Given the description of an element on the screen output the (x, y) to click on. 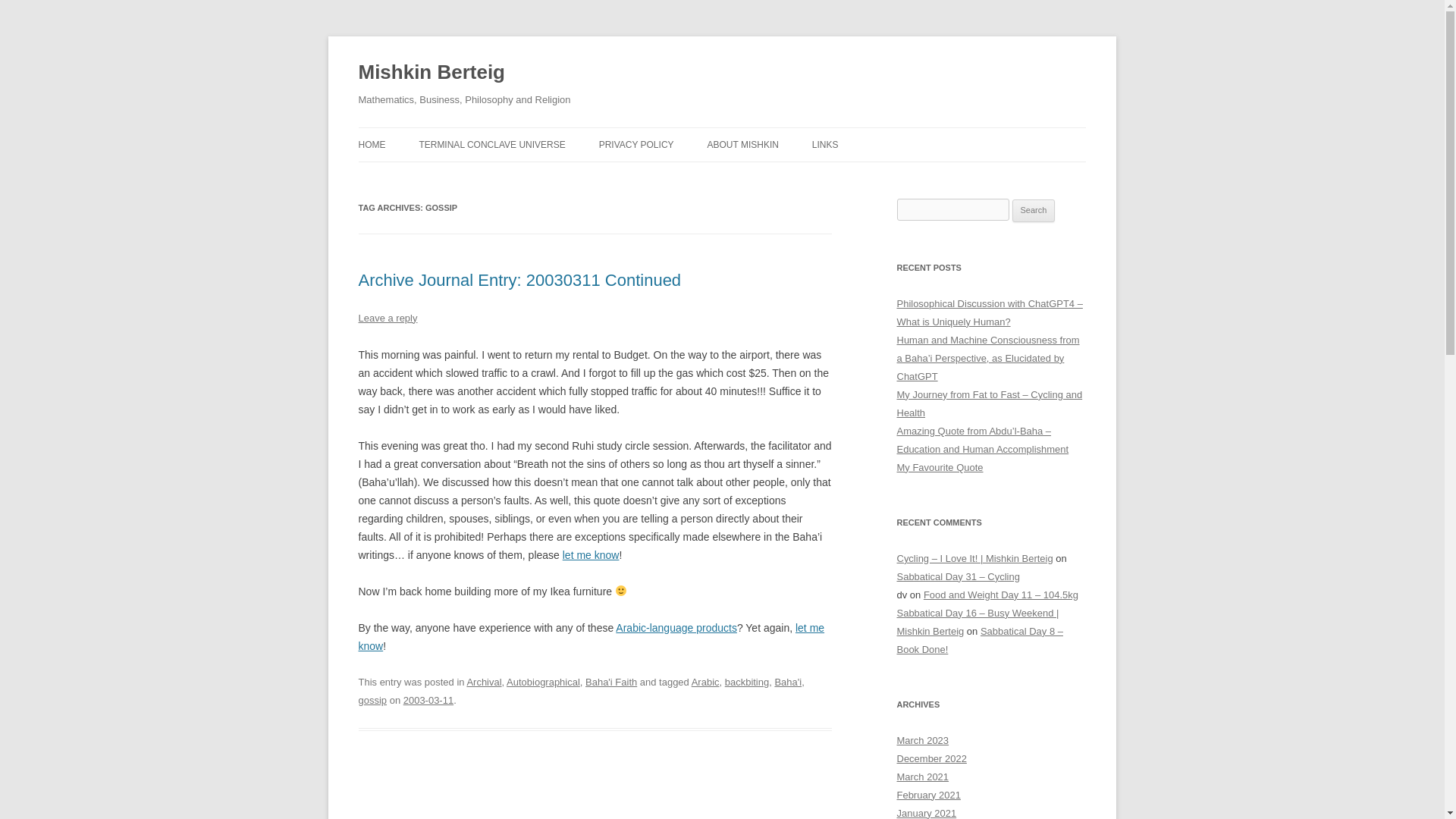
January 2021 (926, 813)
TERMINAL CONCLAVE UNIVERSE (491, 144)
Archive Journal Entry: 20030311 Continued (519, 280)
Arabic-language products (675, 627)
HOME (371, 144)
Search (1033, 210)
March 2021 (922, 776)
let me know (591, 636)
backbiting (746, 681)
March 2023 (922, 740)
17:48 (427, 699)
Autobiographical (542, 681)
My Favourite Quote (939, 467)
